Given the description of an element on the screen output the (x, y) to click on. 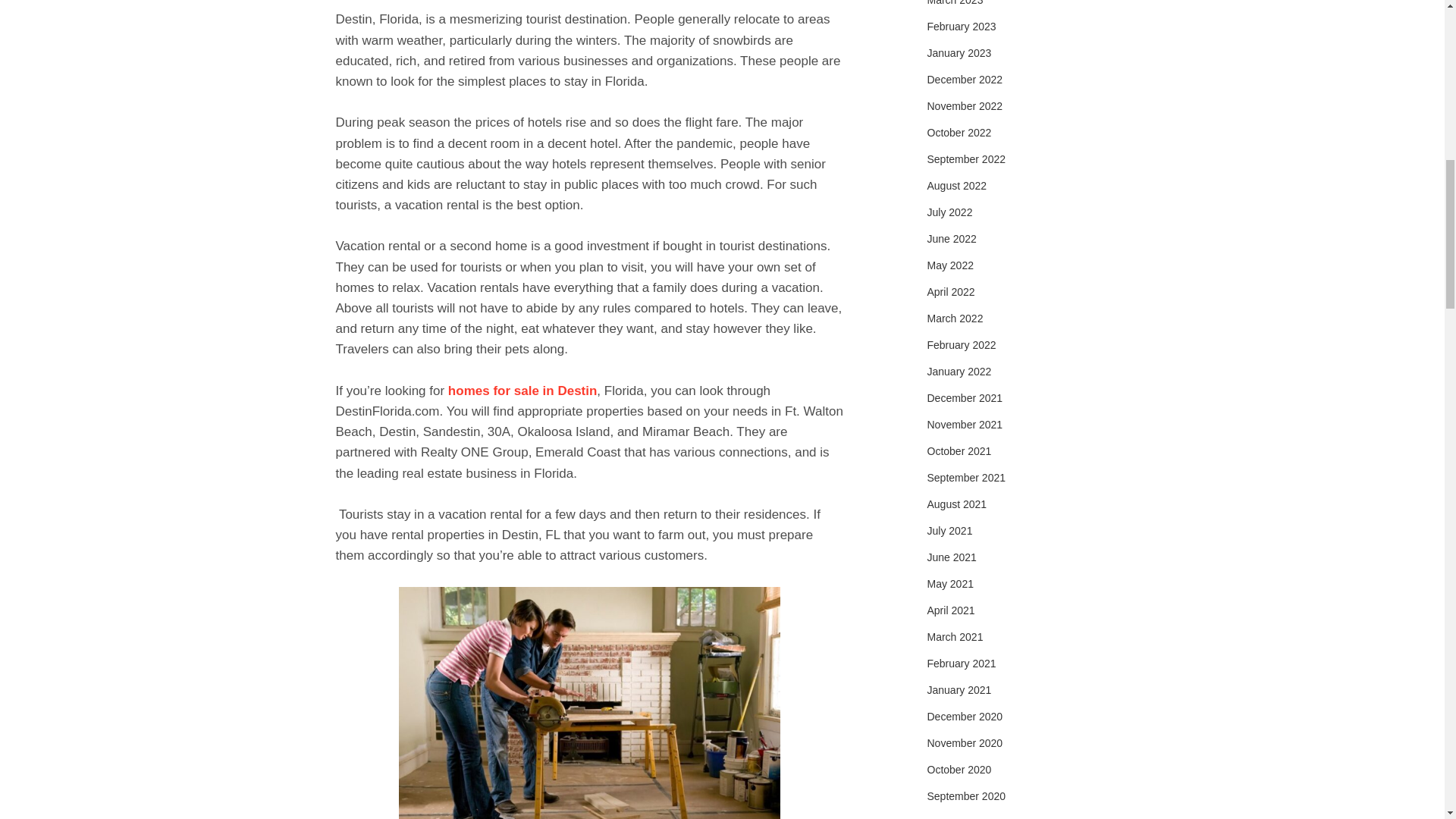
homes for sale in Destin (522, 391)
